Given the description of an element on the screen output the (x, y) to click on. 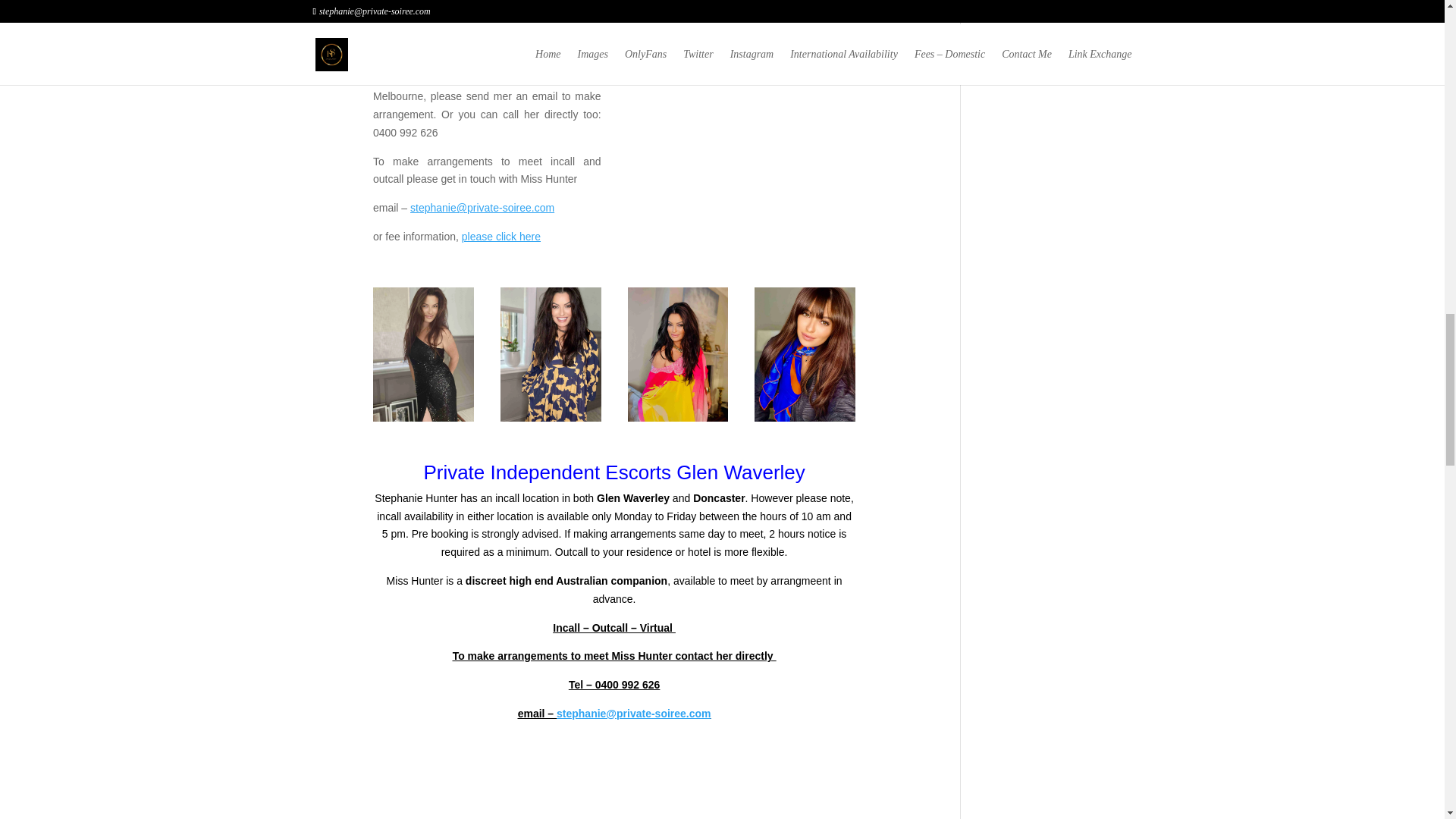
High End Melbourne Escorts  (500, 236)
please click here (500, 236)
